Given the description of an element on the screen output the (x, y) to click on. 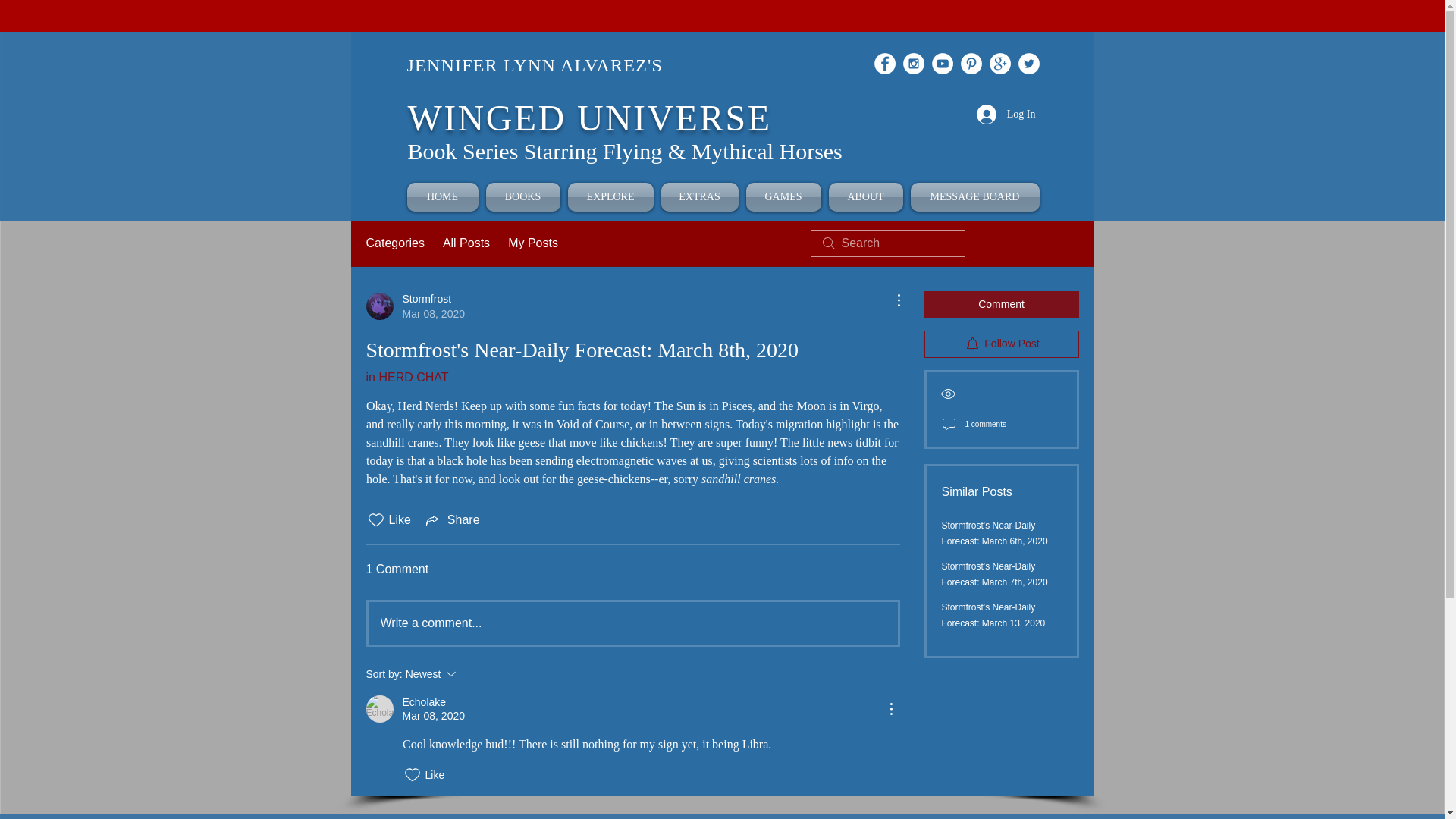
MESSAGE BOARD (973, 196)
JENNIFER LYNN ALVAREZ'S (534, 65)
ABOUT (866, 196)
BOOKS (522, 196)
GAMES (782, 196)
EXTRAS (698, 196)
Log In (1006, 113)
WINGED UNIVERSE (589, 117)
EXPLORE (611, 196)
Echolake (379, 708)
HOME (443, 196)
